Given the description of an element on the screen output the (x, y) to click on. 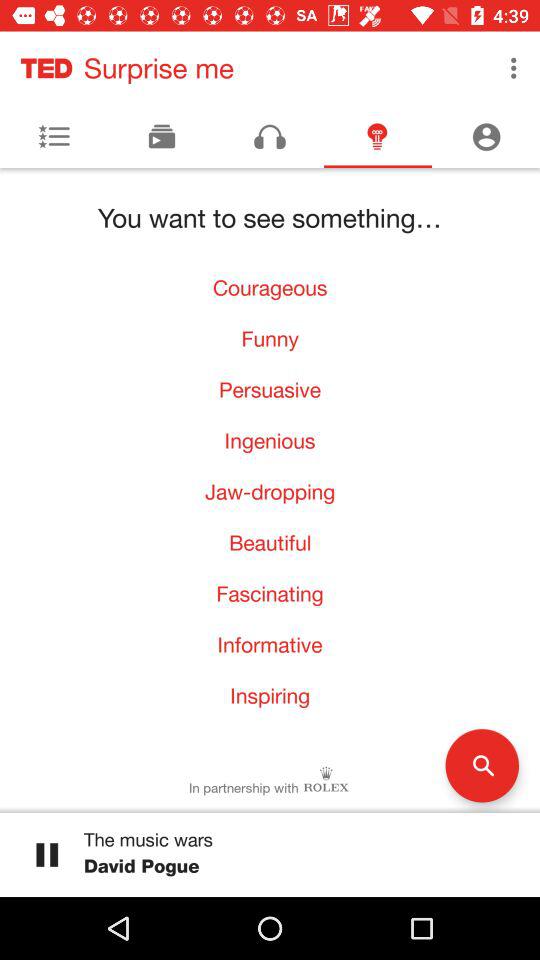
flip to the persuasive item (270, 389)
